Given the description of an element on the screen output the (x, y) to click on. 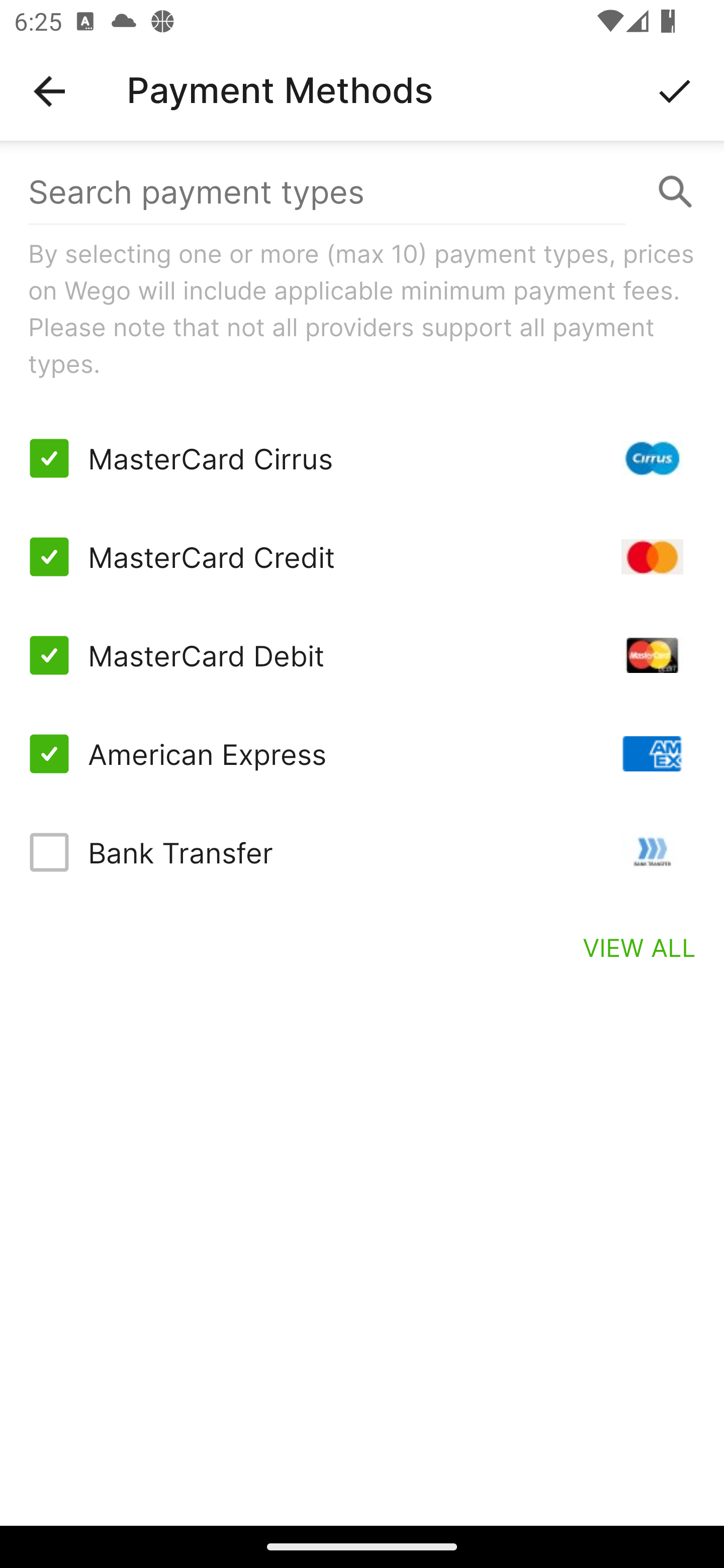
Search payment types  (361, 191)
MasterCard Cirrus (362, 458)
MasterCard Credit (362, 557)
MasterCard Debit (362, 655)
American Express (362, 753)
Bank Transfer (362, 851)
VIEW ALL (639, 946)
